Given the description of an element on the screen output the (x, y) to click on. 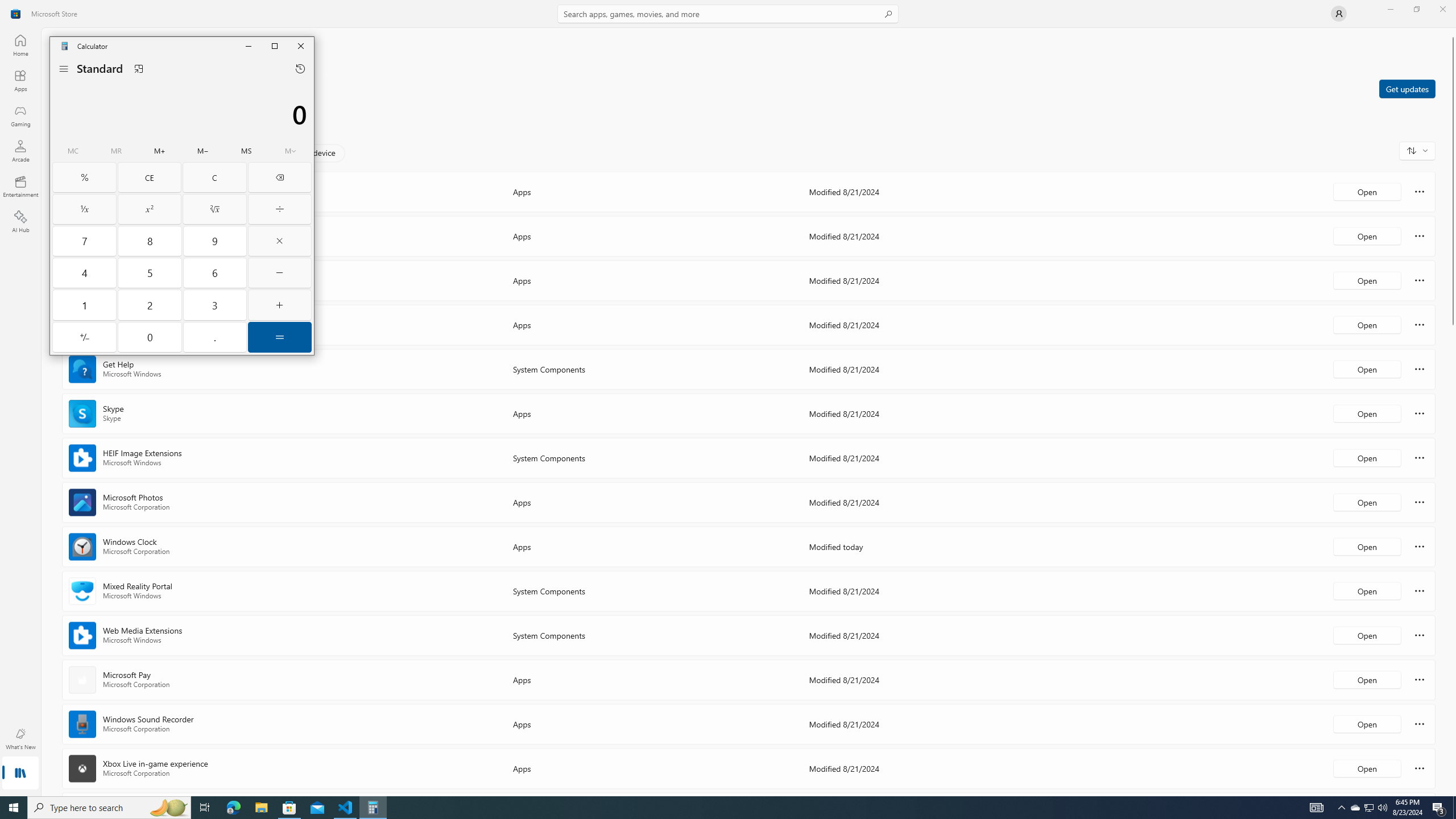
Five (149, 272)
Vertical Large Increase (1452, 557)
Clear all memory (73, 151)
Seven (1355, 807)
User profile (84, 241)
Memory recall (1338, 13)
Show desktop (117, 151)
Sort and filter (1454, 807)
Open (1417, 149)
Four (1366, 768)
AI Hub (84, 272)
Library (20, 221)
Equals (20, 773)
Calculator - 1 running window (279, 336)
